Given the description of an element on the screen output the (x, y) to click on. 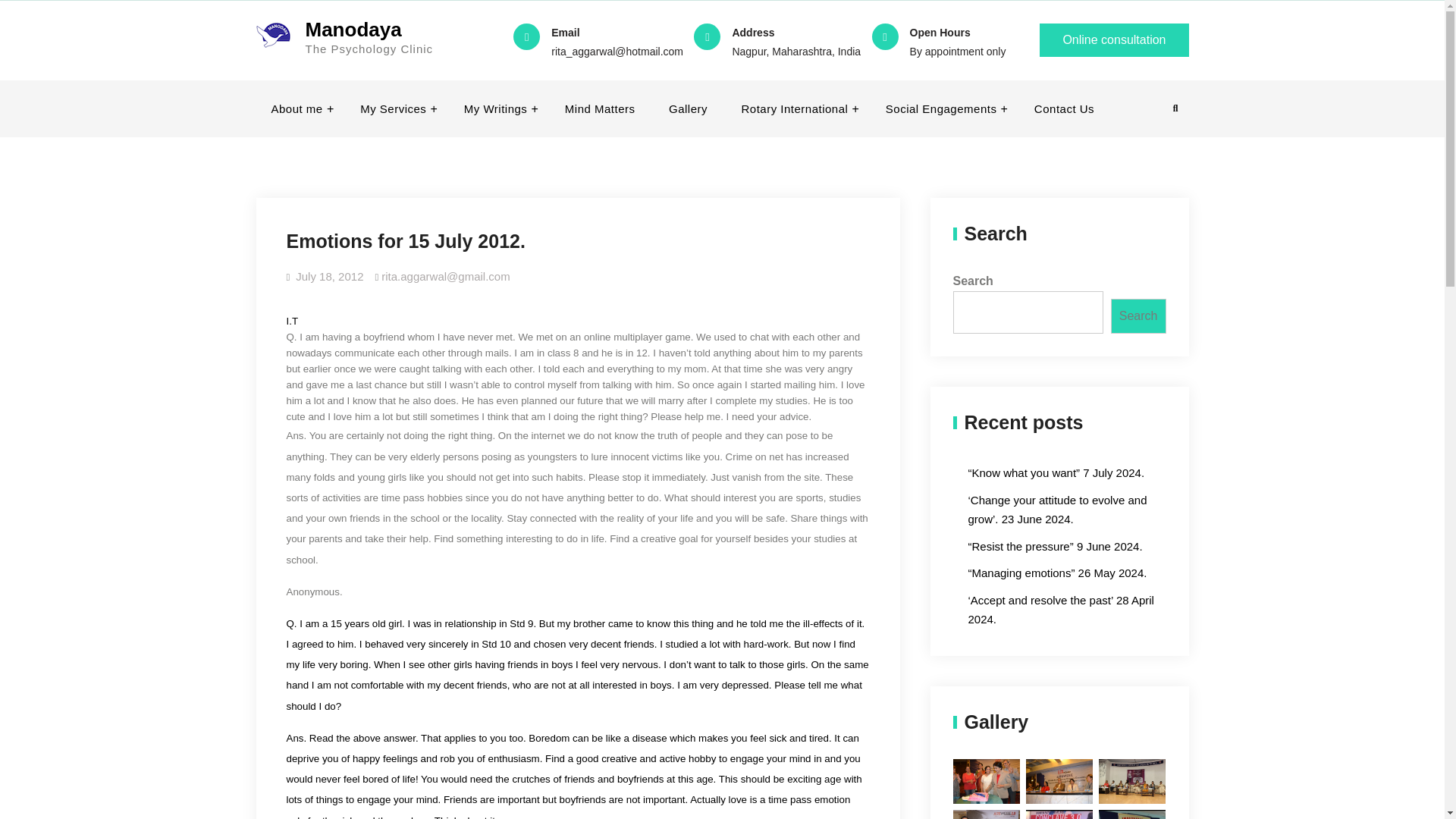
Mind Matters (600, 108)
Contact Us (1064, 108)
My Writings (497, 108)
Social Engagements (943, 108)
Manodaya (352, 29)
Rotary International (795, 108)
Online consultation (1113, 39)
About me (299, 108)
My Services (395, 108)
Gallery (687, 108)
